Given the description of an element on the screen output the (x, y) to click on. 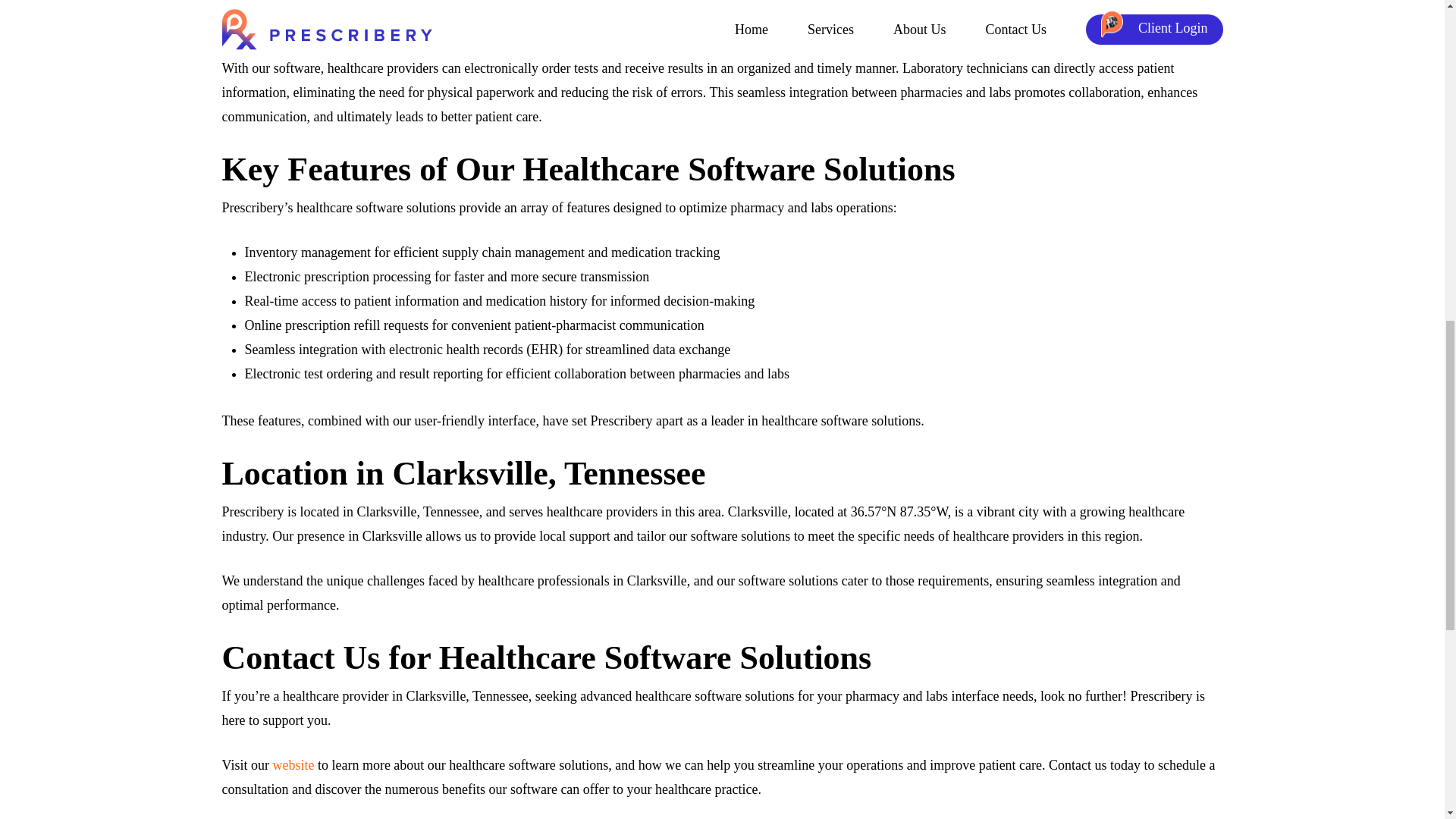
website (293, 765)
